Given the description of an element on the screen output the (x, y) to click on. 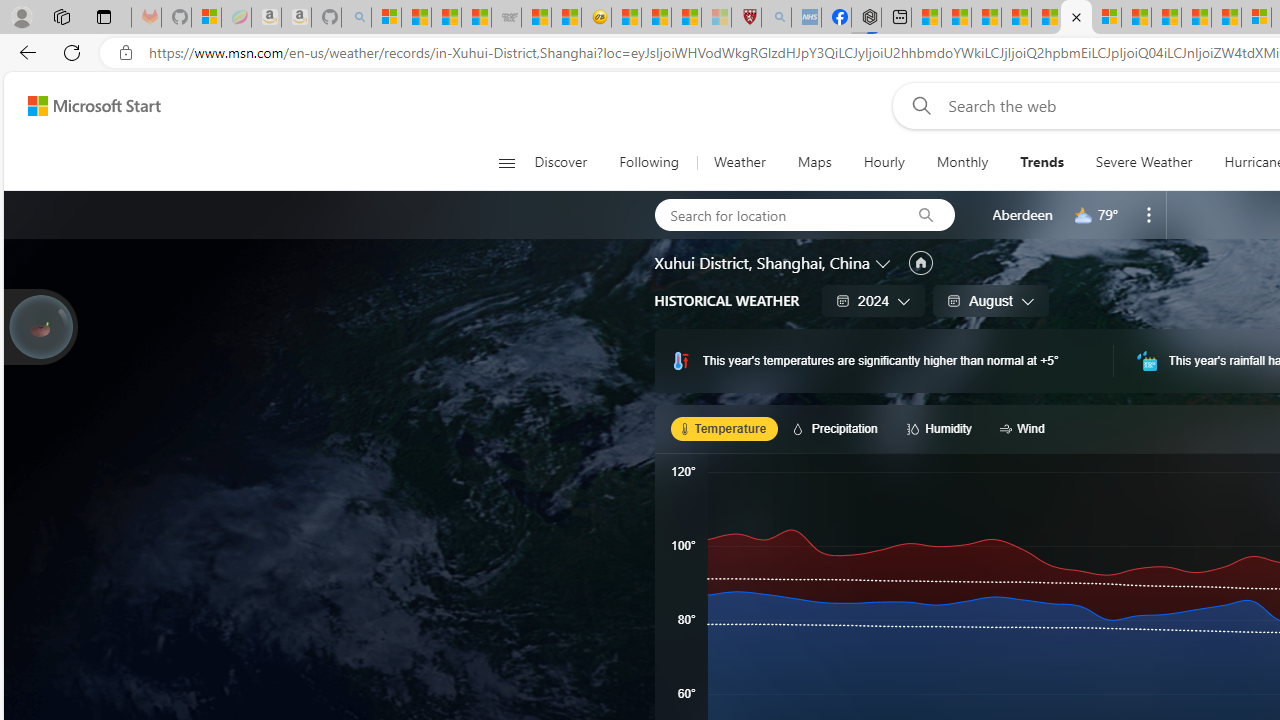
Severe Weather (1143, 162)
August (990, 300)
Severe Weather (1144, 162)
Set as primary location (920, 263)
Humidity (942, 428)
